Given the description of an element on the screen output the (x, y) to click on. 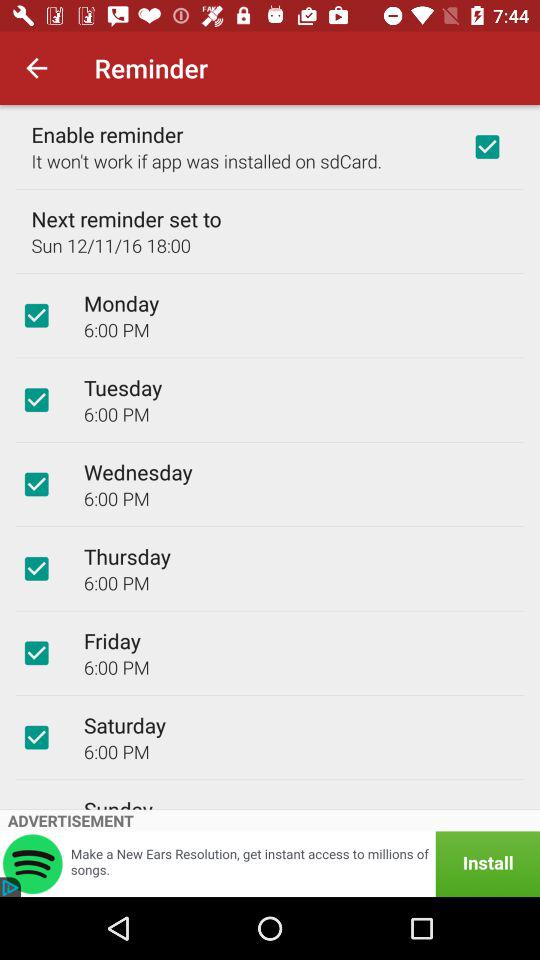
enable button (487, 147)
